Given the description of an element on the screen output the (x, y) to click on. 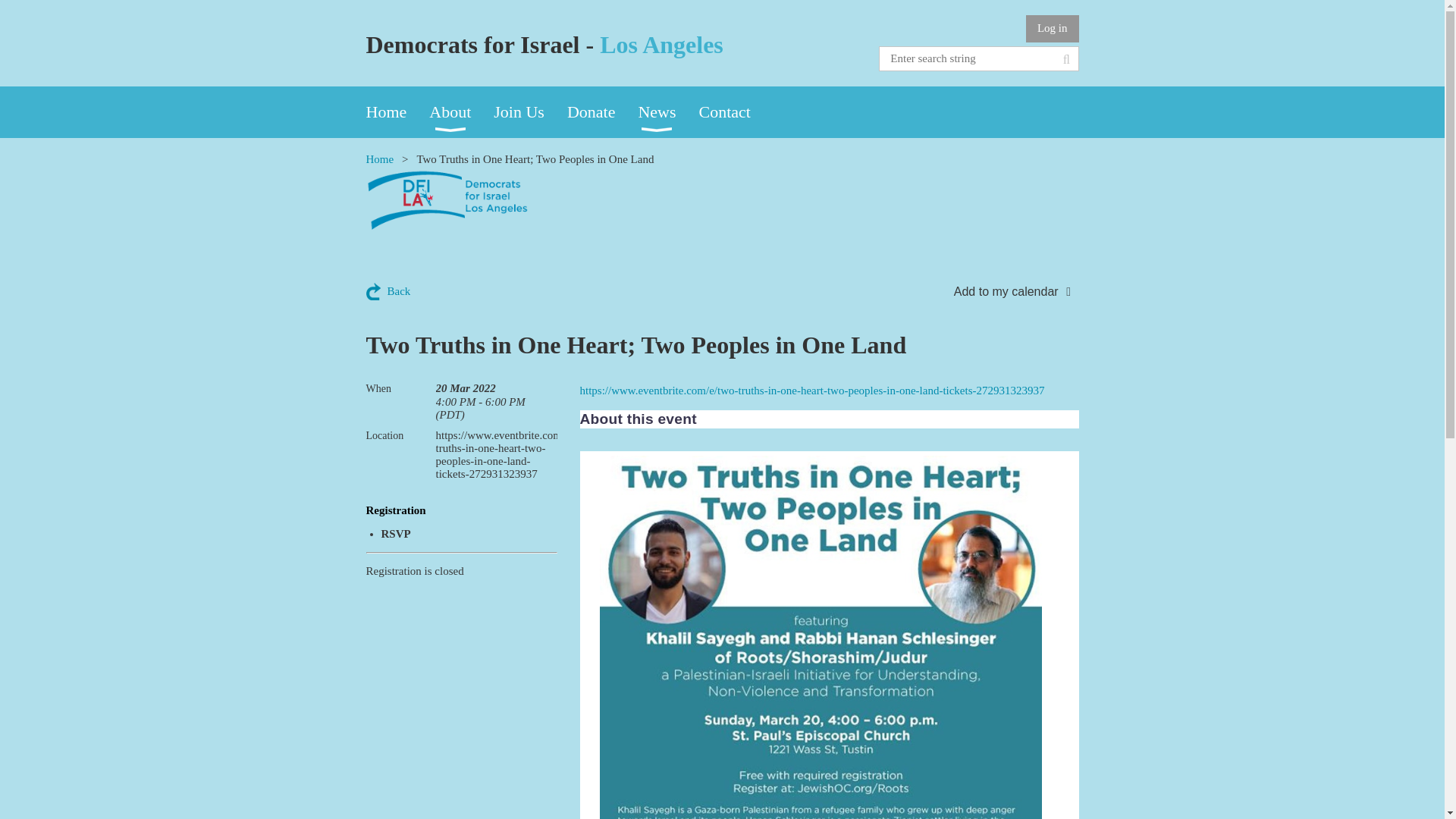
Donate (603, 112)
About (461, 112)
Contact (735, 112)
Back (387, 291)
Join Us (530, 112)
About (461, 112)
Home (397, 112)
Home (379, 159)
News (667, 112)
Contact (735, 112)
